Given the description of an element on the screen output the (x, y) to click on. 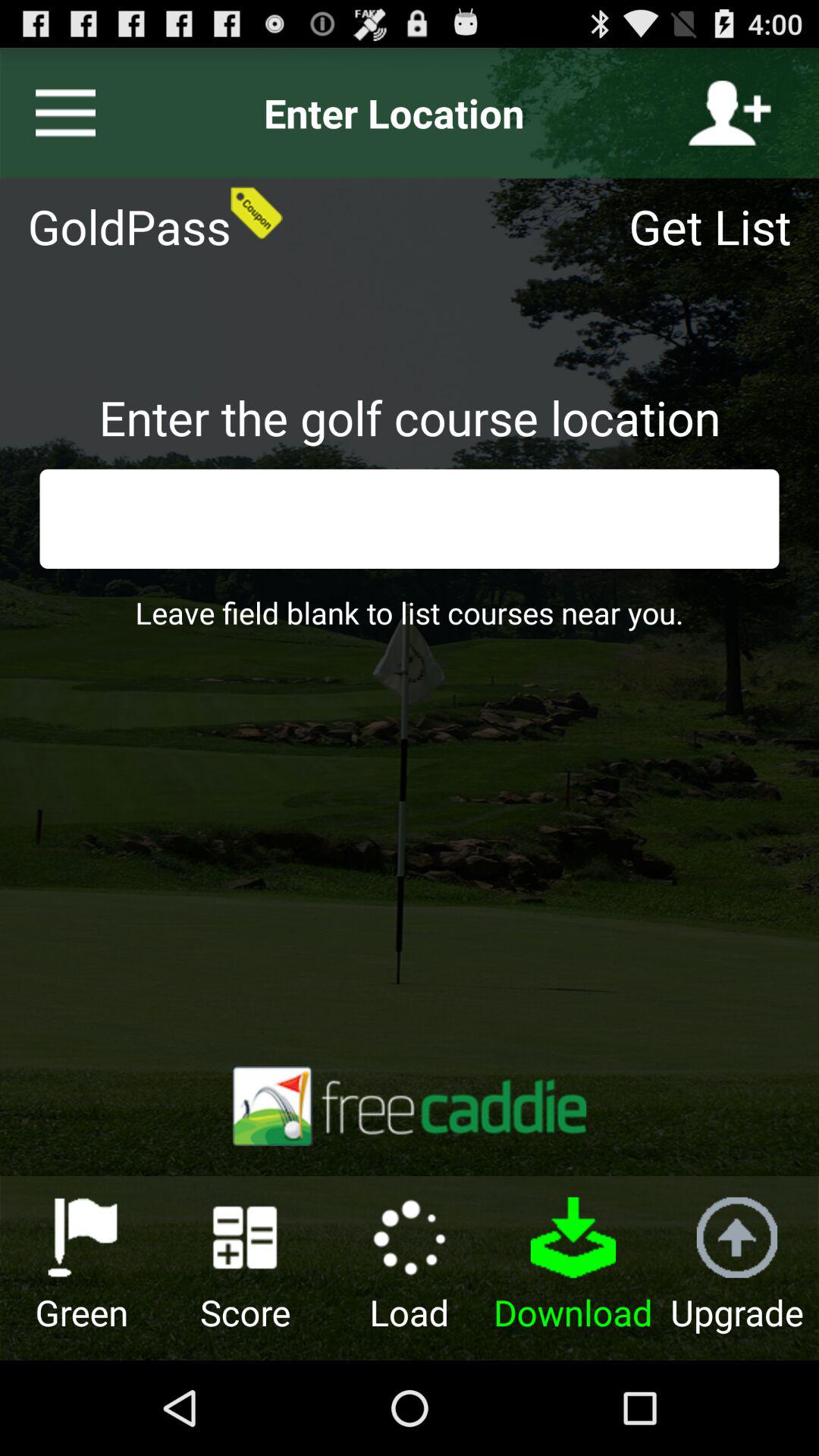
turn on the icon above get list (729, 112)
